Given the description of an element on the screen output the (x, y) to click on. 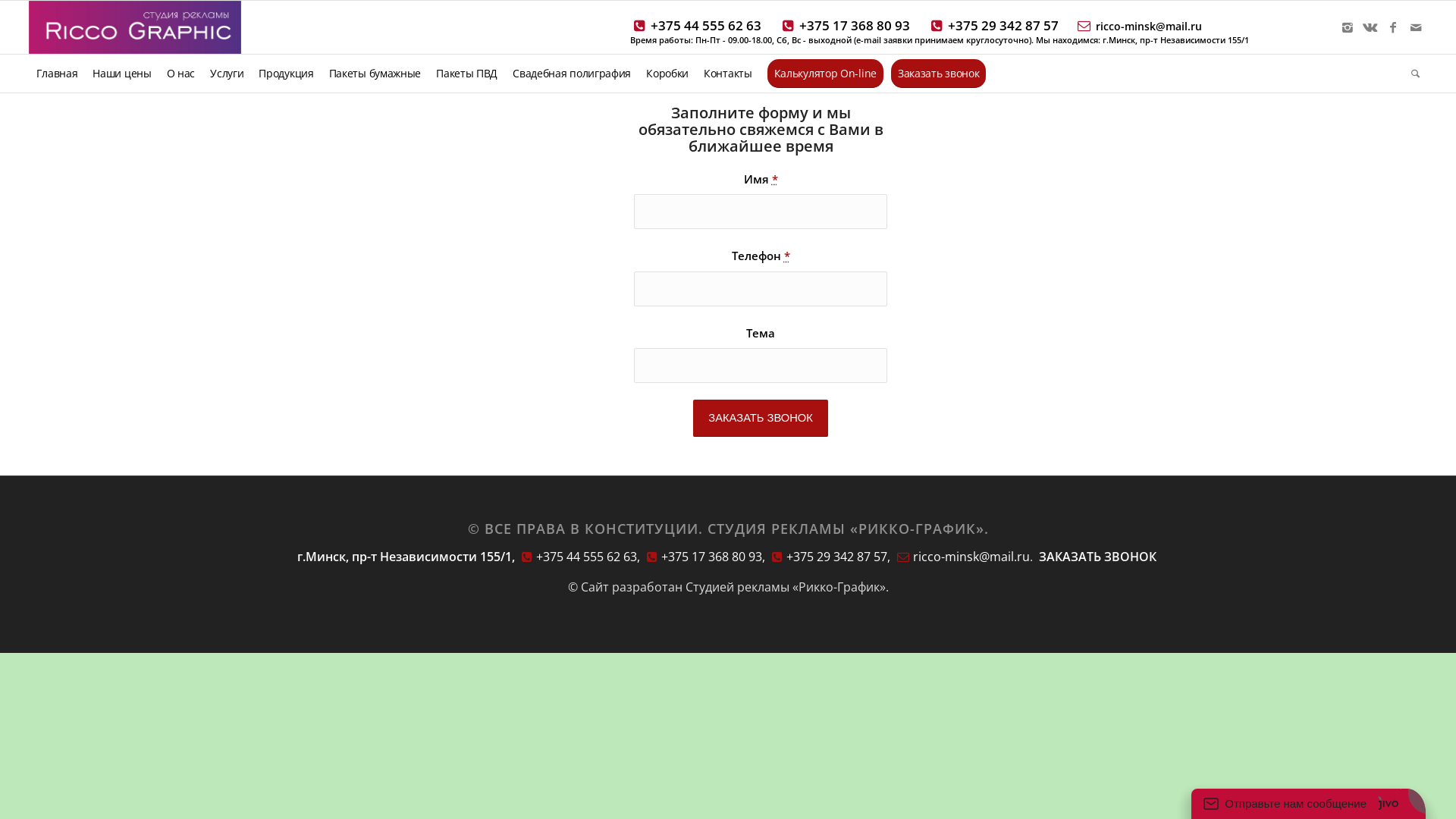
ricco-minsk@mail.ru Element type: text (1145, 25)
Vk Element type: hover (1369, 26)
+375 29 342 87 57,  Element type: text (829, 556)
Instagram Element type: hover (1347, 26)
Mail Element type: hover (1415, 26)
Facebook Element type: hover (1392, 26)
+375 17 368 80 93 Element type: text (851, 25)
+375 17 368 80 93,  Element type: text (705, 556)
+375 44 555 62 63 Element type: text (703, 25)
ricco-minsk@mail.ru Element type: text (961, 556)
+375 29 342 87 57 Element type: text (1000, 25)
+375 44 555 62 63,  Element type: text (579, 556)
